Given the description of an element on the screen output the (x, y) to click on. 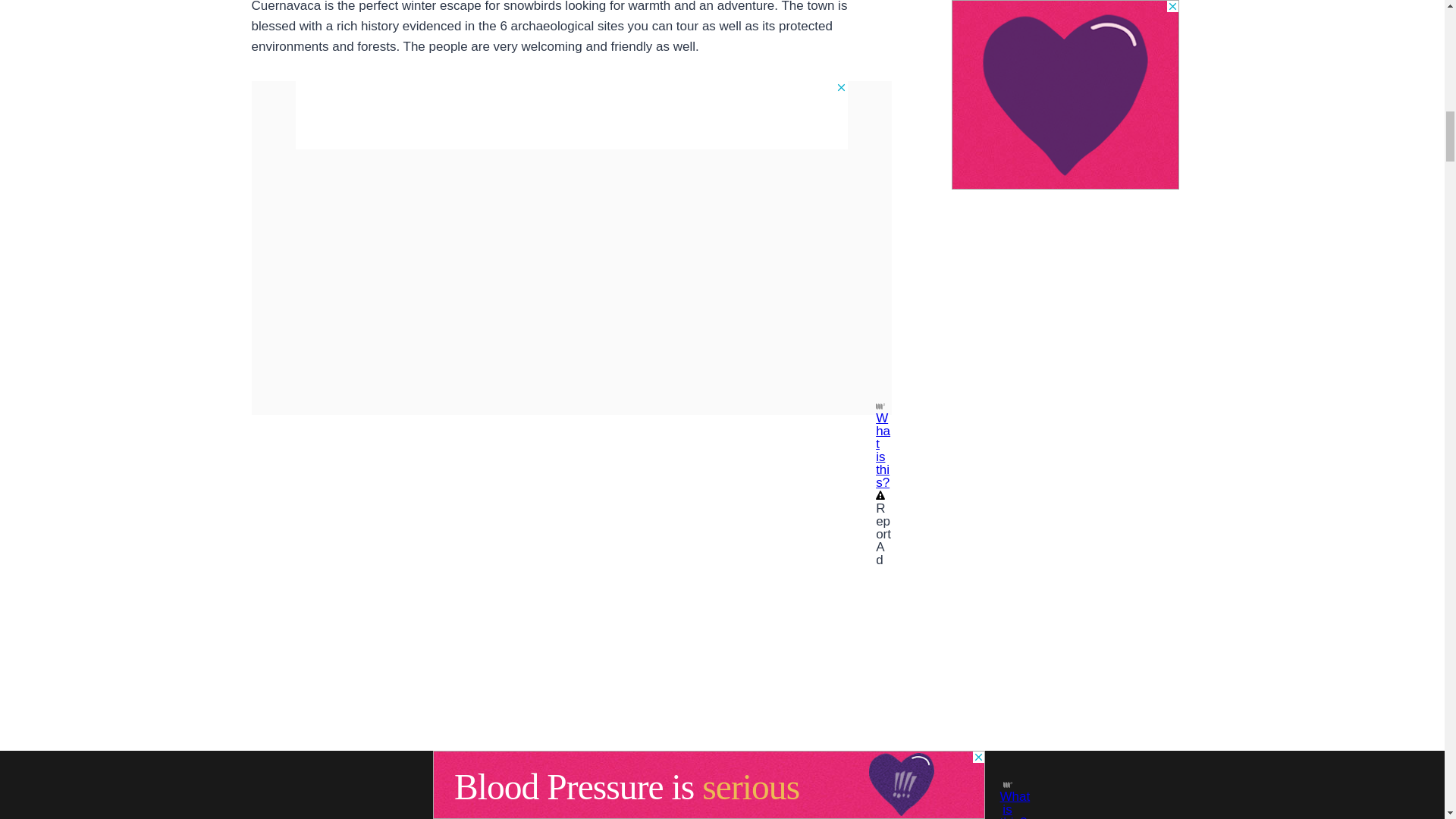
3rd party ad content (571, 115)
